Given the description of an element on the screen output the (x, y) to click on. 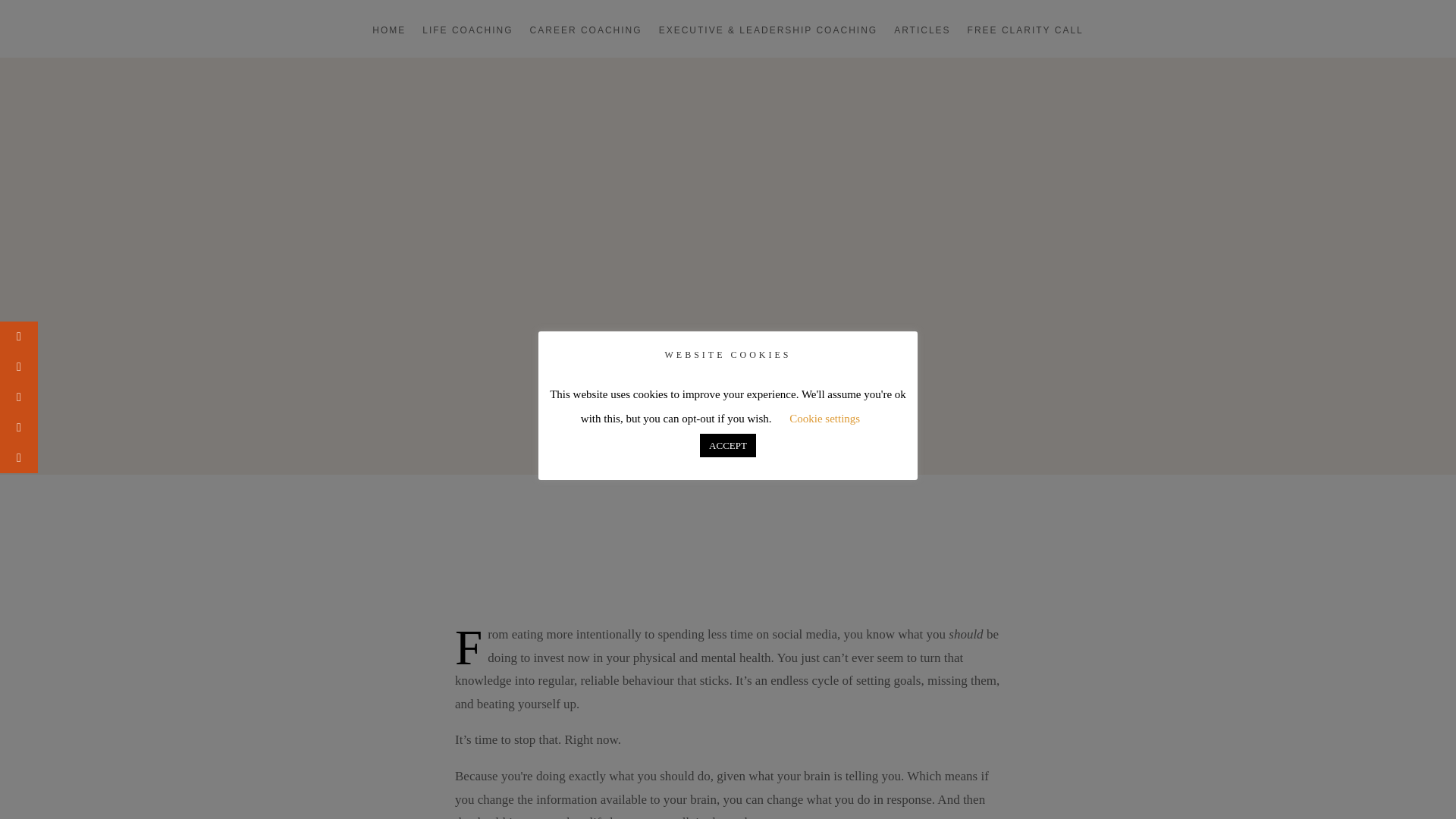
LIFE COACHING (467, 41)
CAREER COACHING (585, 41)
FREE CLARITY CALL (1025, 41)
HOME (389, 41)
ARTICLES (921, 41)
